Given the description of an element on the screen output the (x, y) to click on. 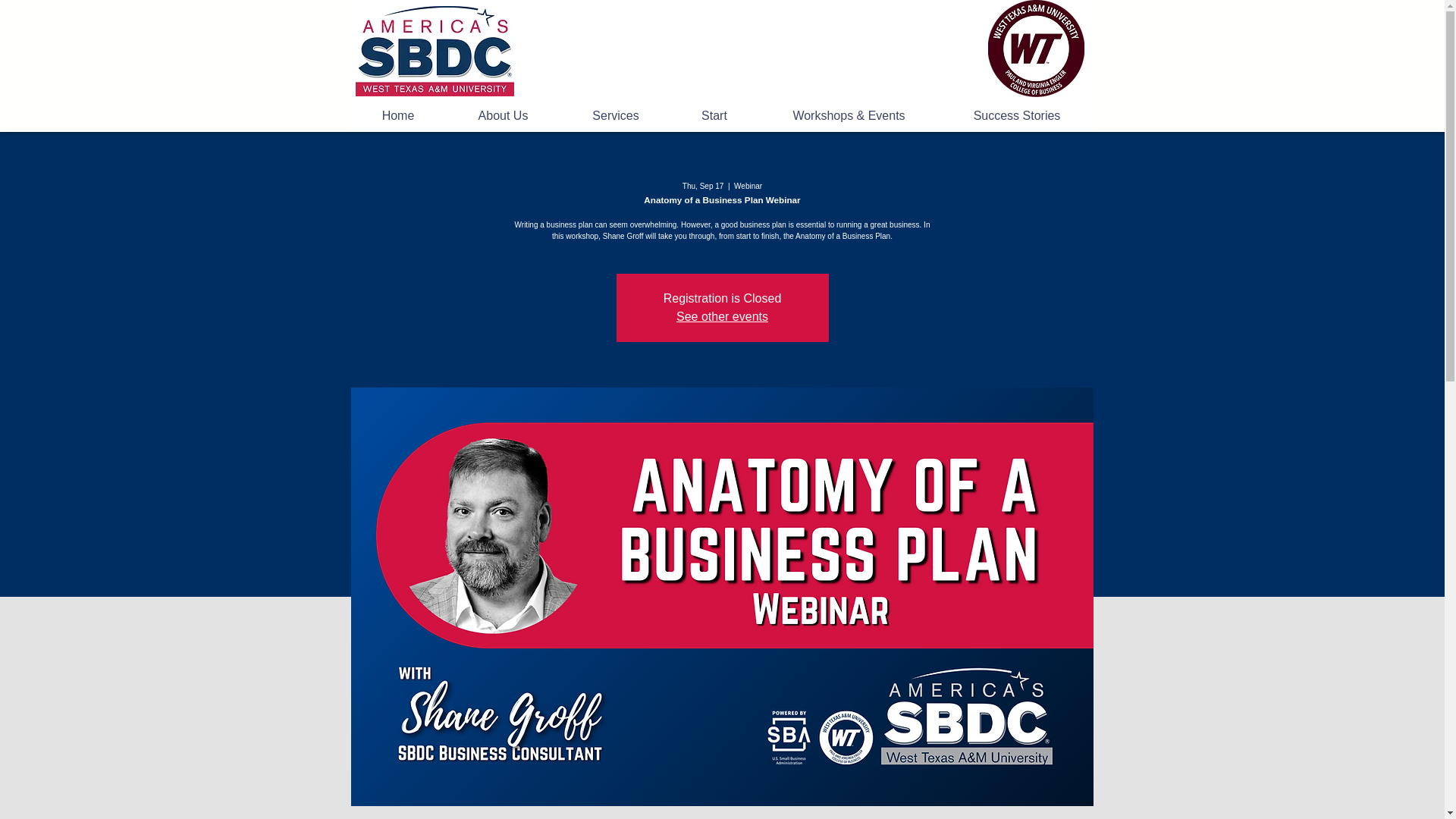
Success Stories (1017, 116)
Services (615, 116)
See other events (722, 316)
Home (434, 50)
About Us (502, 116)
Home (397, 116)
Start (713, 116)
